Given the description of an element on the screen output the (x, y) to click on. 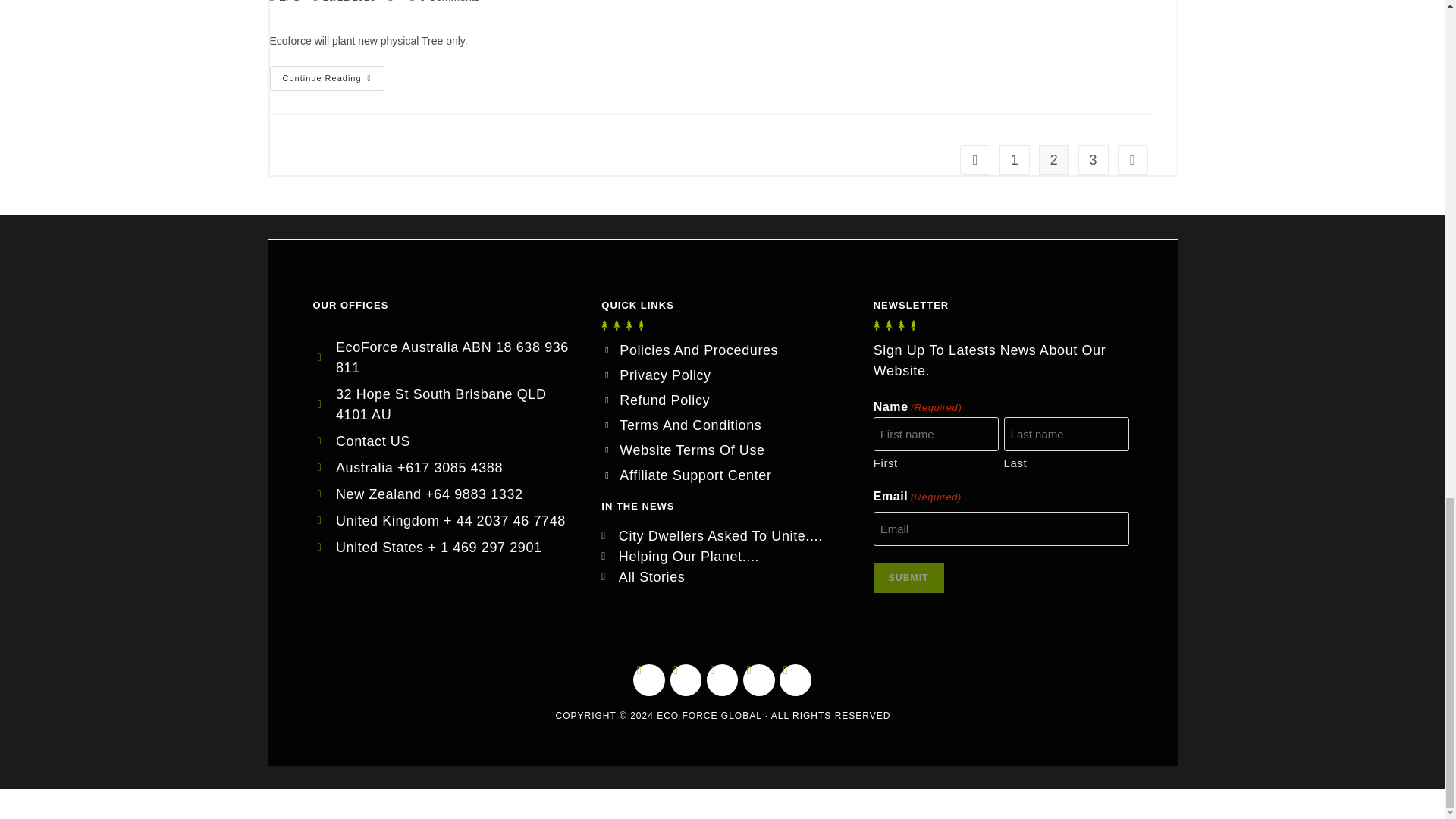
Posts by EFG (290, 1)
Submit (908, 577)
